Given the description of an element on the screen output the (x, y) to click on. 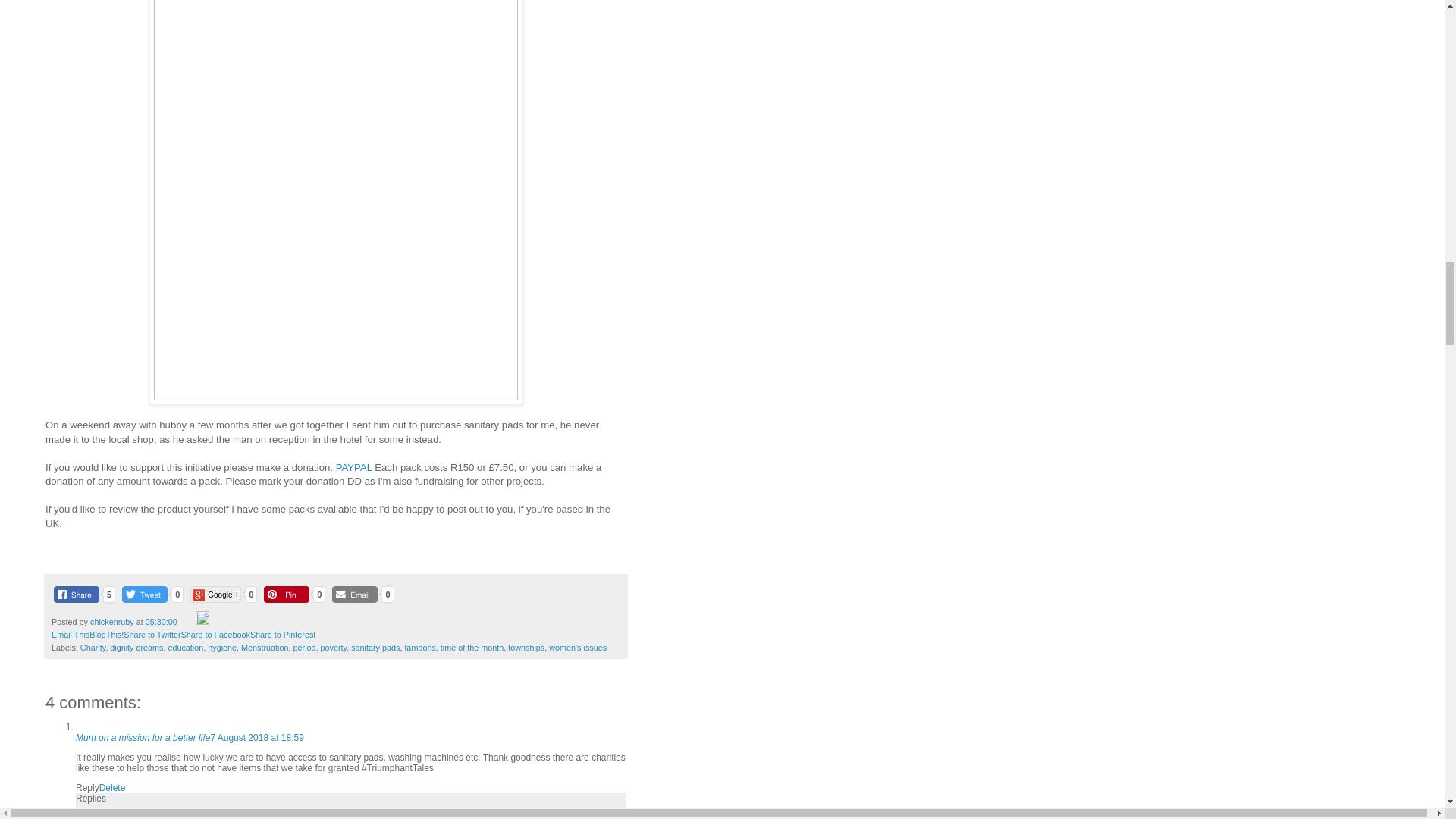
Email This (69, 634)
BlogThis! (105, 634)
Charity (92, 646)
Share to Twitter (151, 634)
chickenruby (113, 621)
BlogThis! (105, 634)
Share to Pinterest (282, 634)
05:30:00 (161, 621)
Edit Post (202, 621)
education (185, 646)
permanent link (161, 621)
poverty (333, 646)
dignity dreams (136, 646)
Share to Twitter (151, 634)
sanitary pads (374, 646)
